Given the description of an element on the screen output the (x, y) to click on. 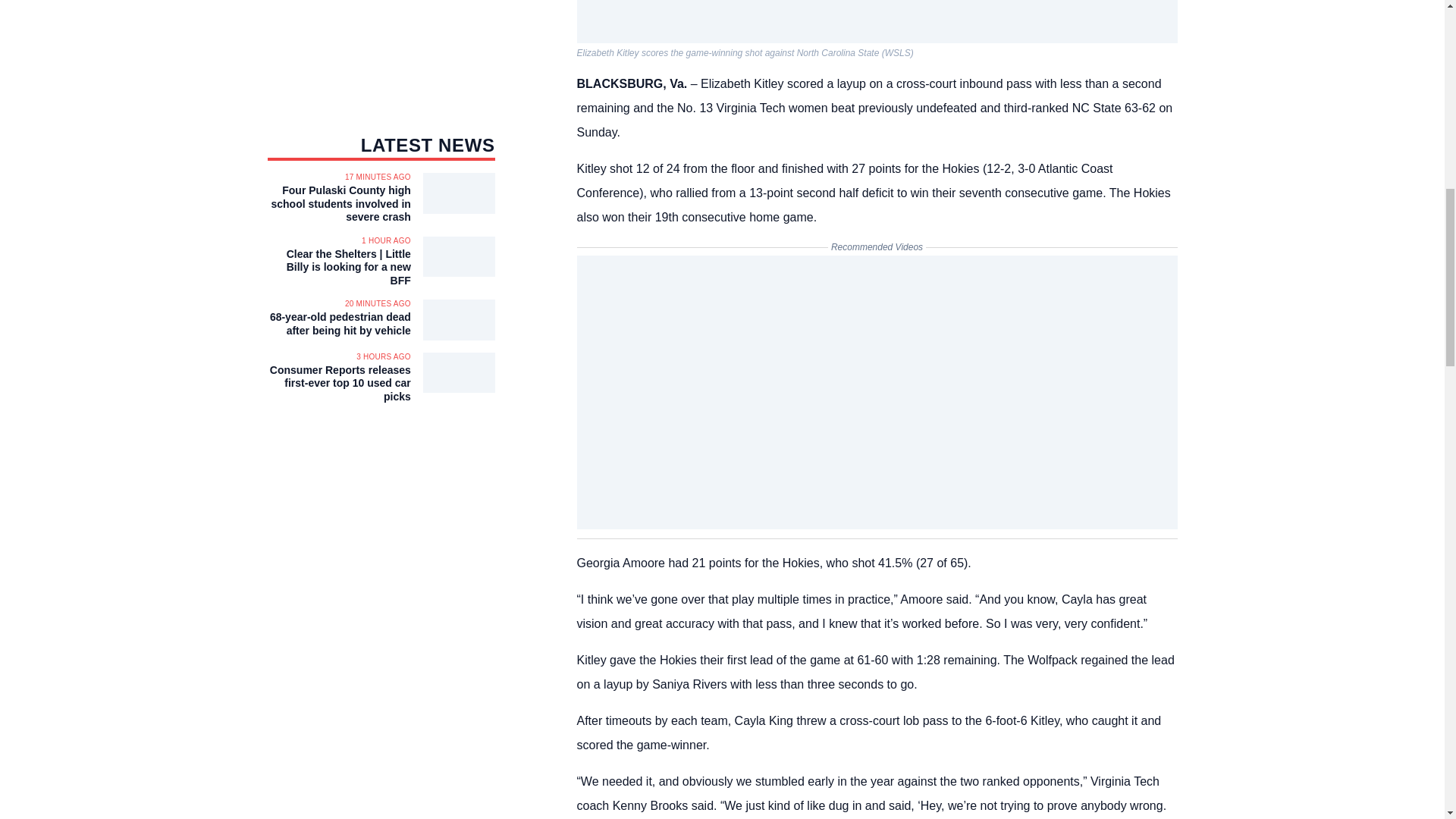
Consumer Reports releases first-ever top 10 used car picks (338, 383)
68-year-old pedestrian dead after being hit by vehicle (338, 324)
